Given the description of an element on the screen output the (x, y) to click on. 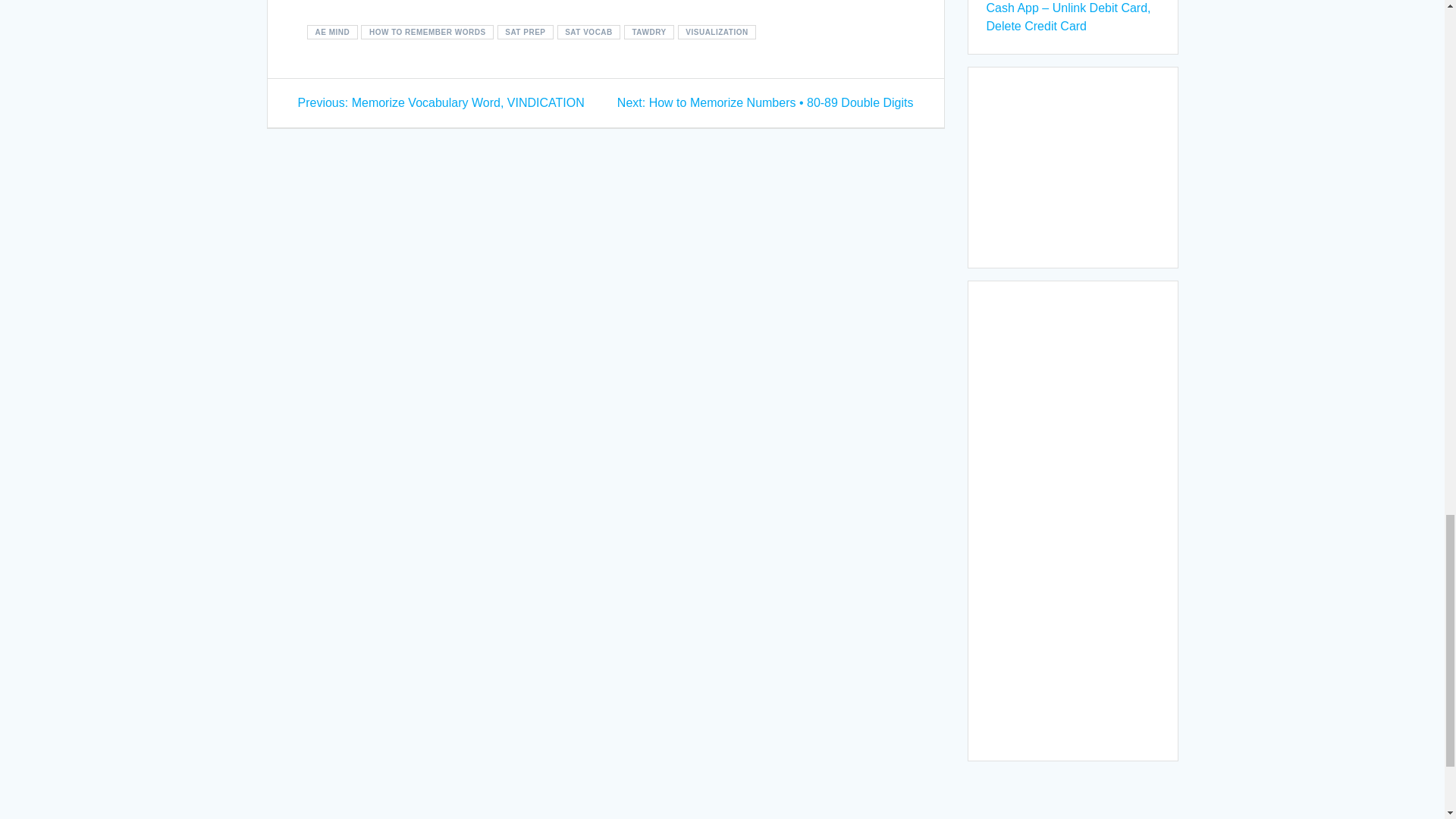
SAT PREP (525, 32)
TAWDRY (649, 32)
HOW TO REMEMBER WORDS (427, 32)
SAT VOCAB (589, 32)
AE MIND (332, 32)
VISUALIZATION (717, 32)
